Given the description of an element on the screen output the (x, y) to click on. 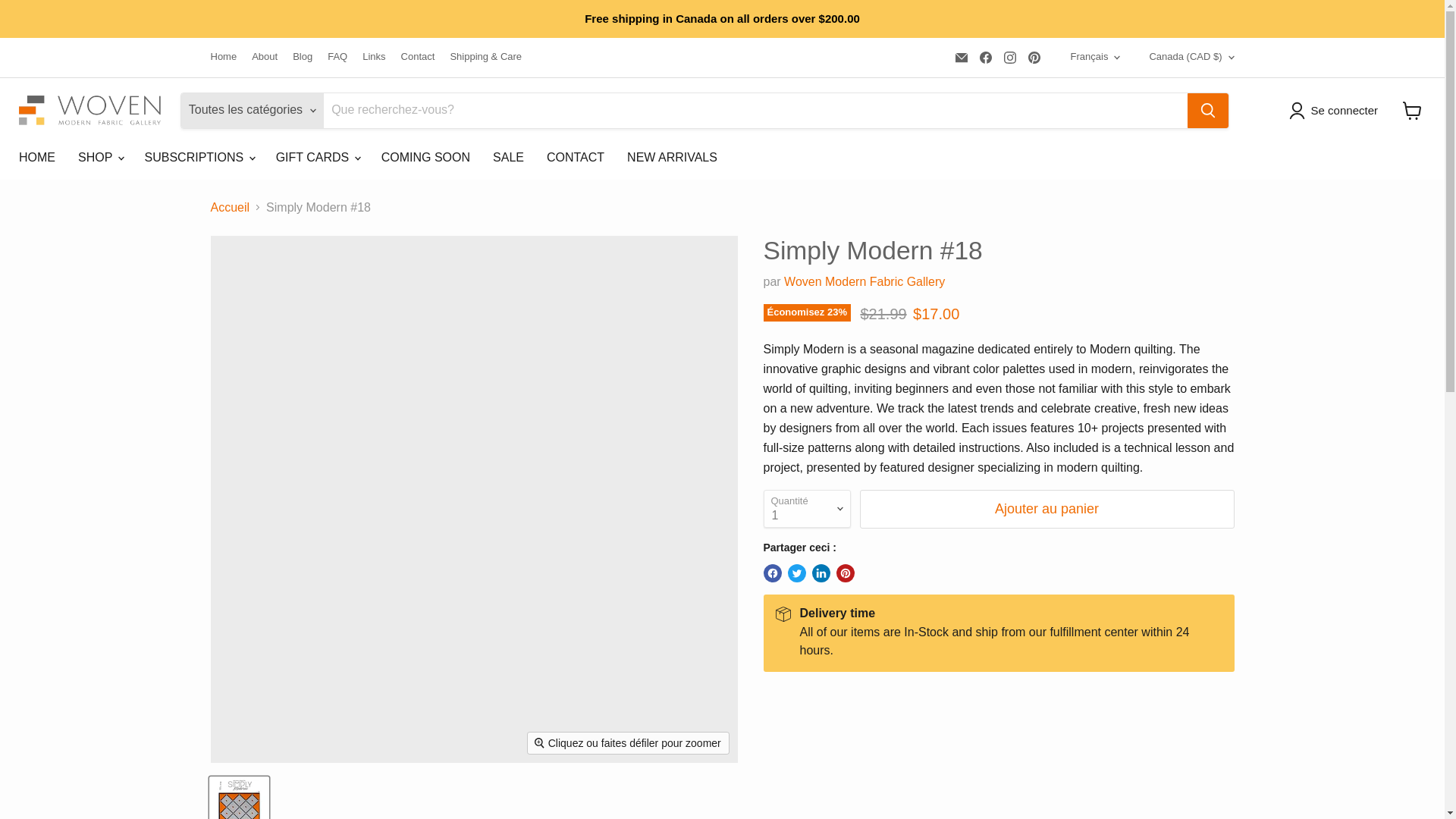
Trouvez-nous sur Pinterest (1034, 56)
Woven Modern Fabric Gallery (864, 281)
Email (961, 56)
Links (373, 57)
FAQ (337, 57)
Trouvez-nous sur Instagram (1009, 56)
Instagram (1009, 56)
Home (224, 57)
Pinterest (1034, 56)
Contact (418, 57)
